Given the description of an element on the screen output the (x, y) to click on. 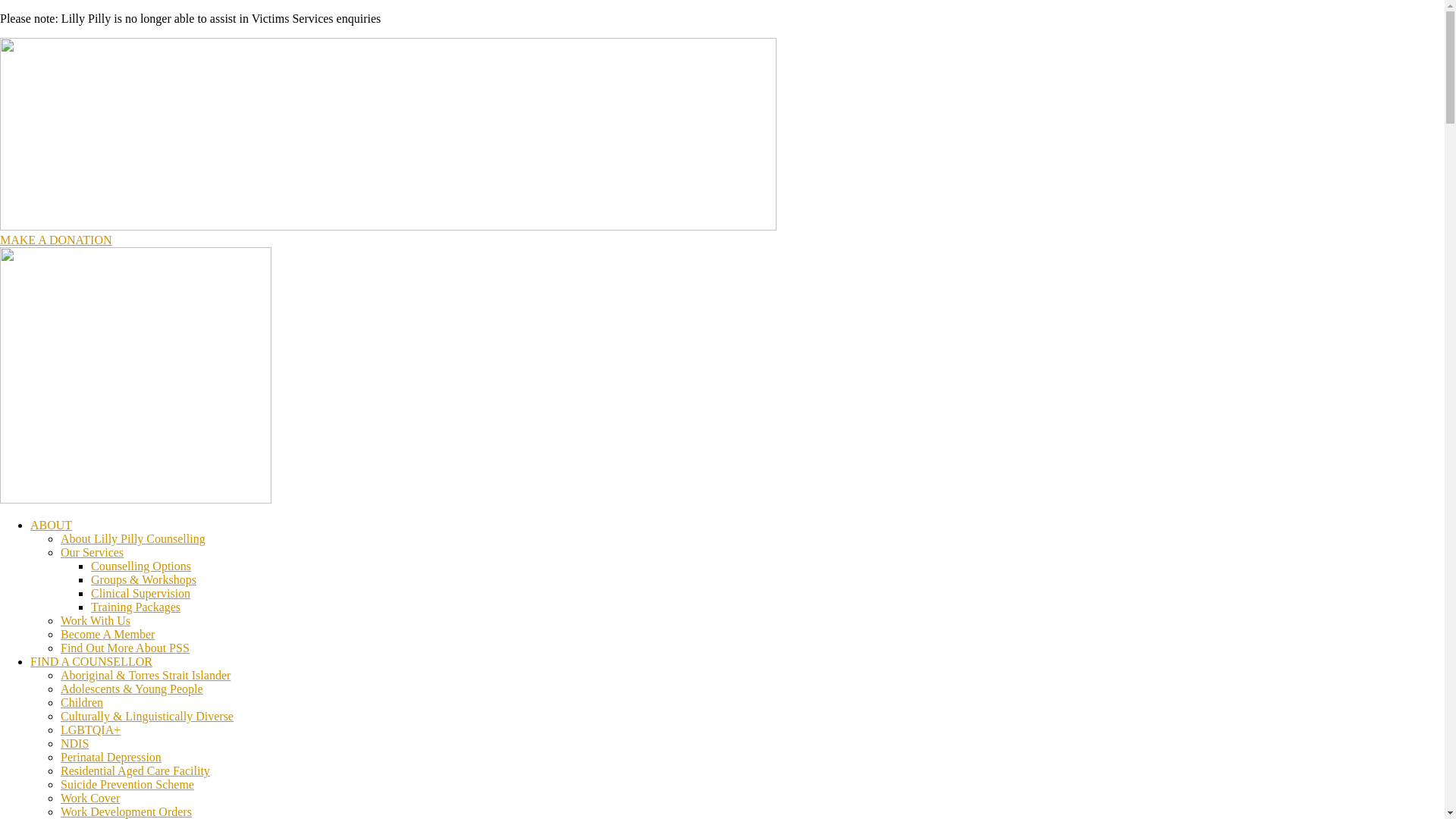
Perinatal Depression Element type: text (110, 756)
Adolescents & Young People Element type: text (131, 688)
Culturally & Linguistically Diverse Element type: text (146, 715)
About Lilly Pilly Counselling Element type: text (132, 538)
Children Element type: text (81, 702)
Work With Us Element type: text (95, 620)
FIND A COUNSELLOR Element type: text (91, 661)
ABOUT Element type: text (51, 524)
Clinical Supervision Element type: text (140, 592)
Residential Aged Care Facility Element type: text (135, 770)
Work Development Orders Element type: text (125, 811)
MAKE A DONATION Element type: text (56, 239)
Our Services Element type: text (91, 552)
Work Cover Element type: text (89, 797)
LGBTQIA+ Element type: text (90, 729)
Training Packages Element type: text (135, 606)
Aboriginal & Torres Strait Islander Element type: text (145, 674)
Groups & Workshops Element type: text (143, 579)
Counselling Options Element type: text (141, 565)
Suicide Prevention Scheme Element type: text (127, 784)
NDIS Element type: text (74, 743)
Become A Member Element type: text (107, 633)
Find Out More About PSS Element type: text (124, 647)
